Given the description of an element on the screen output the (x, y) to click on. 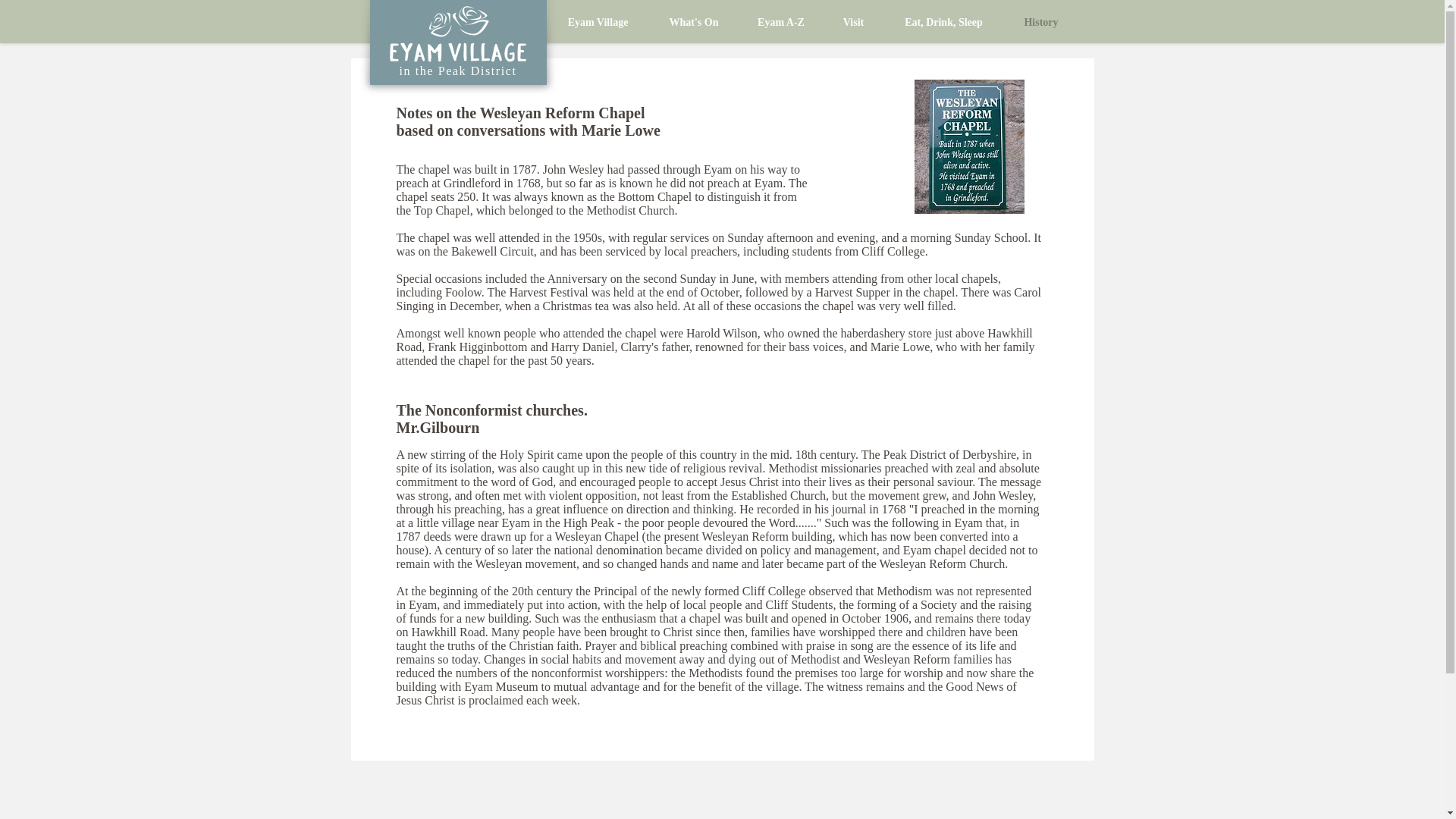
Eyam A-Z (781, 22)
What's On (693, 22)
Visit (853, 22)
Notes on the Wesleyan Reform Chapel (520, 112)
Eyam Village (597, 22)
The Nonconformist churches.  (493, 410)
Eyam Village (457, 35)
History (1040, 22)
Eat, Drink, Sleep (943, 22)
